Given the description of an element on the screen output the (x, y) to click on. 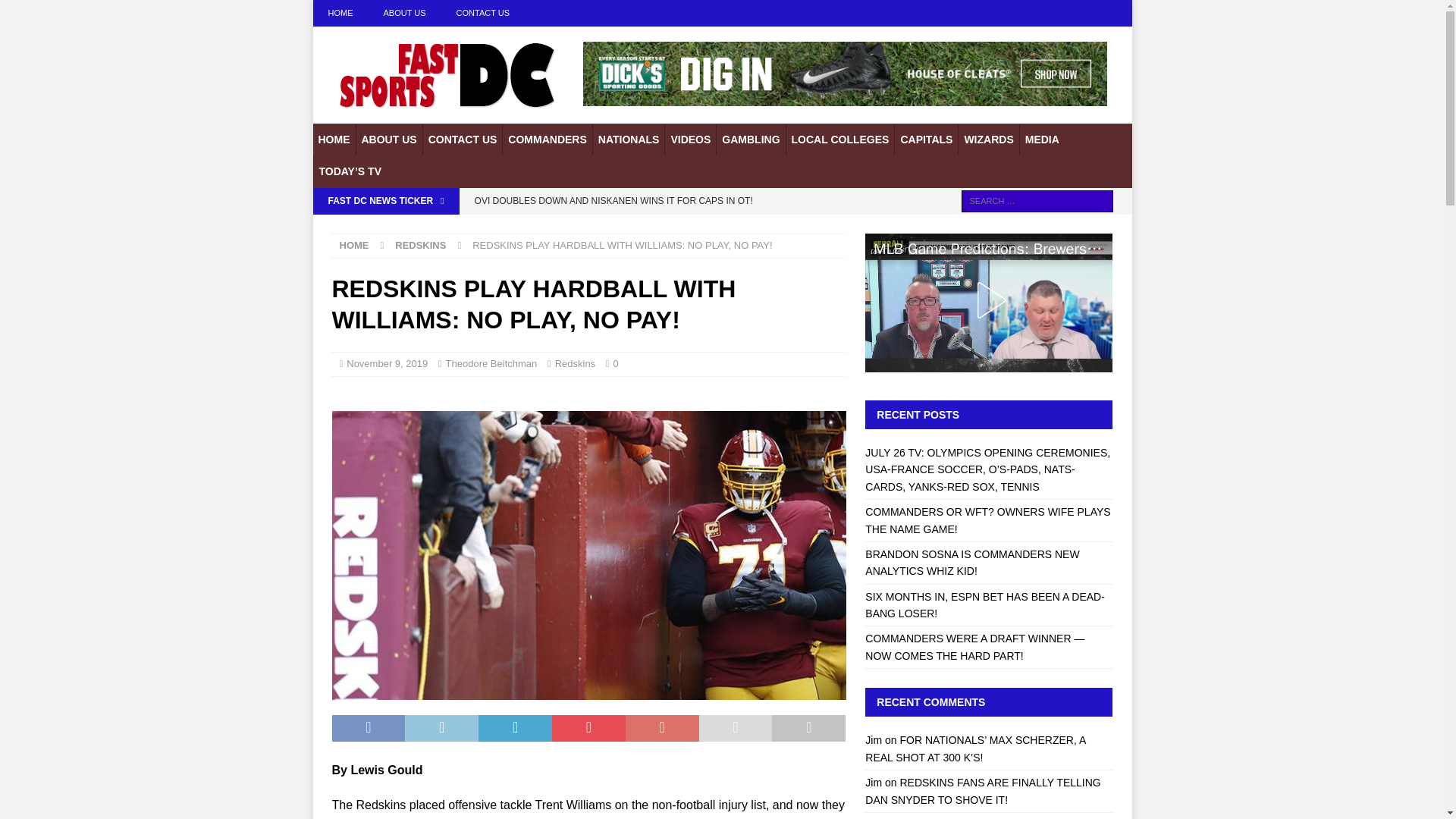
CAPITALS (925, 139)
VIDEOS (689, 139)
CONTACT US (462, 139)
MEDIA (1041, 139)
OVI DOUBLES DOWN AND NISKANEN WINS IT FOR CAPS IN OT! (655, 200)
HOME (334, 139)
OVI DOUBLES DOWN AND NISKANEN WINS IT FOR CAPS IN OT! (655, 200)
CONTACT US (483, 13)
HOME (340, 13)
BOBBY MITCHELL TAKES THE GLOVES OFF JAY GRUDEN AND REDSKINS! (655, 226)
NATIONALS (628, 139)
ABOUT US (388, 139)
WIZARDS (987, 139)
LOCAL COLLEGES (840, 139)
ABOUT US (404, 13)
